Given the description of an element on the screen output the (x, y) to click on. 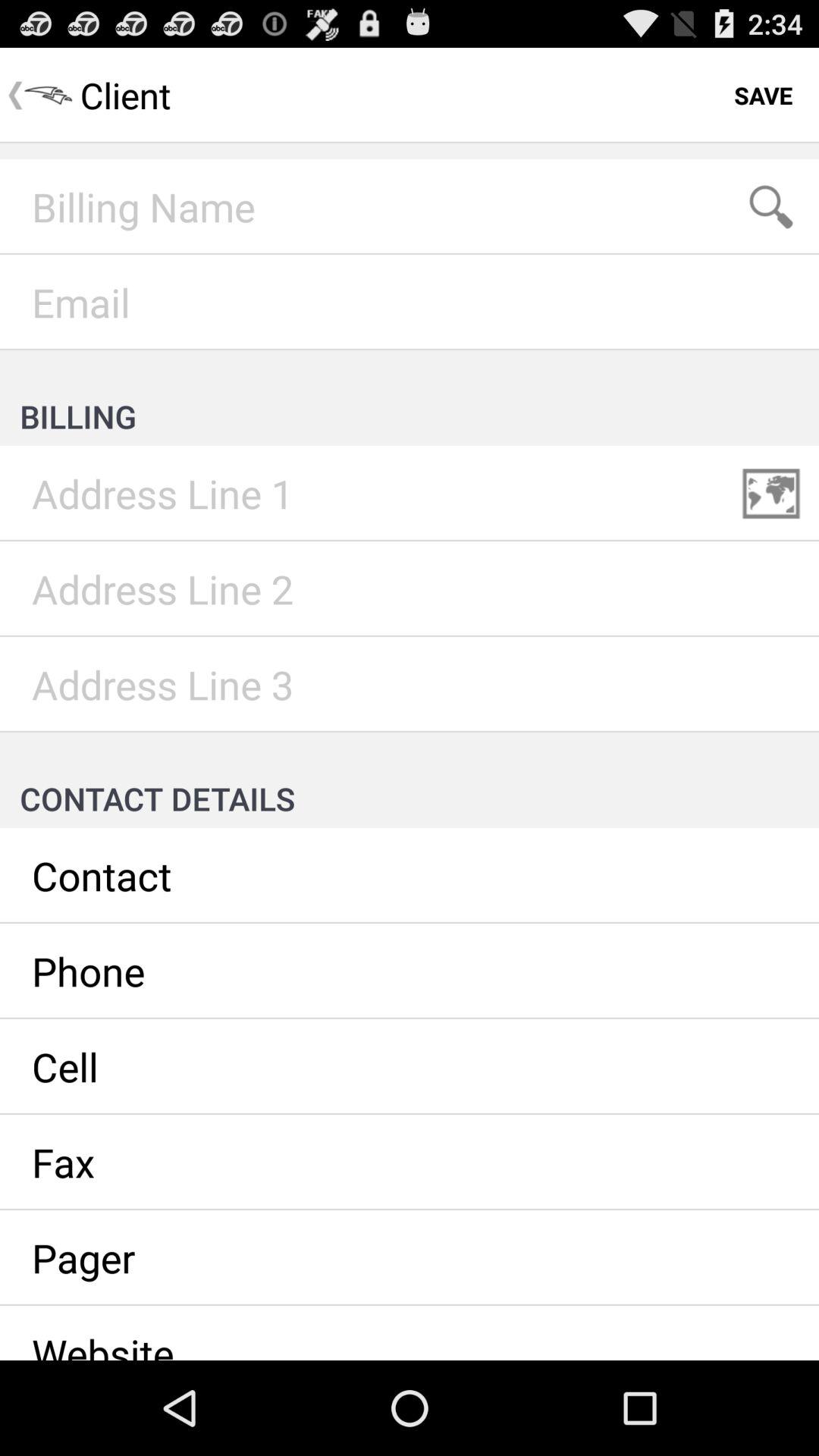
write your billing adress (409, 493)
